Given the description of an element on the screen output the (x, y) to click on. 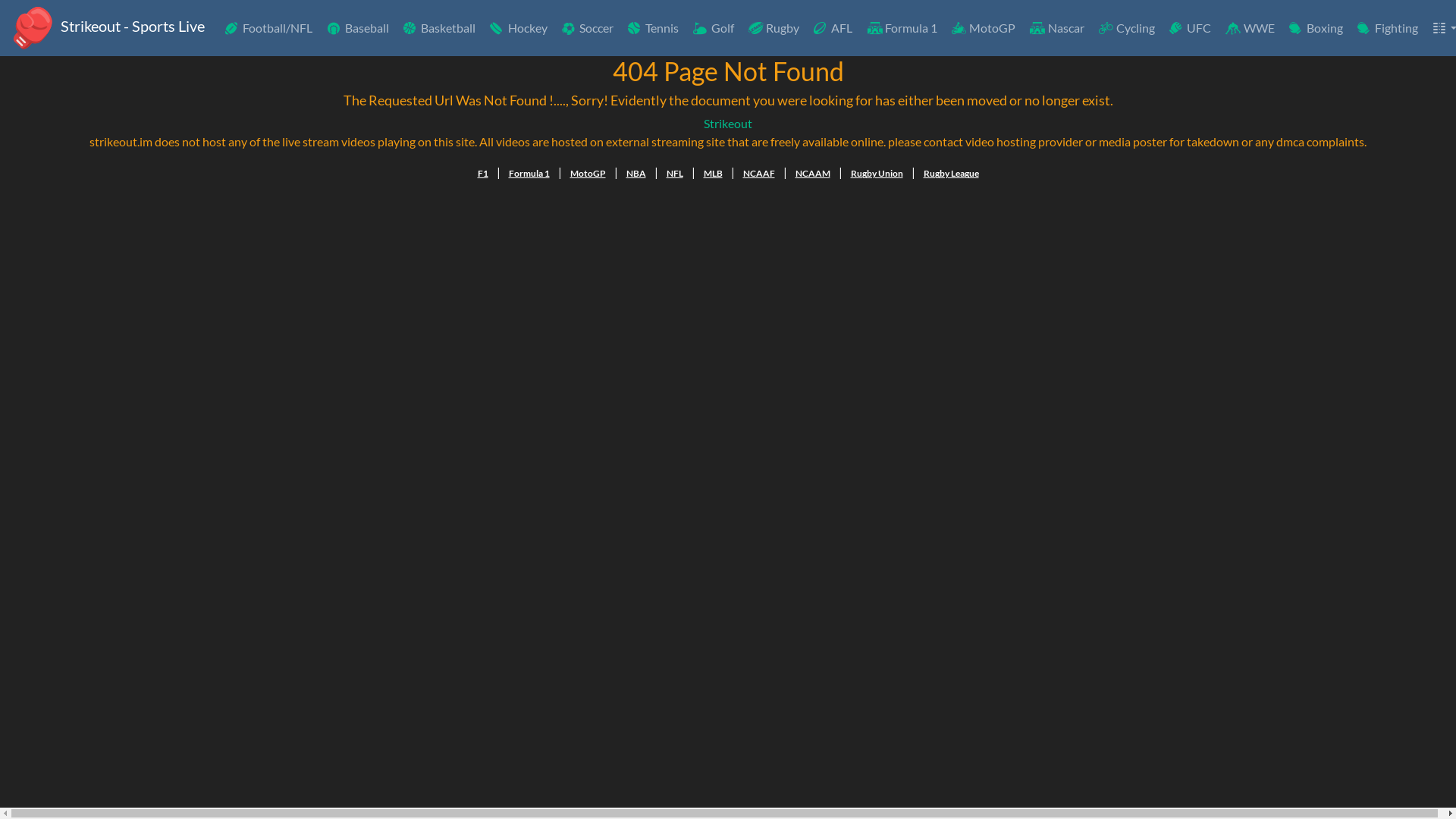
Rugby Element type: text (772, 27)
NCAAF Element type: text (759, 173)
Rugby Union Element type: text (876, 173)
Strikeout - Sports Live Element type: text (106, 28)
Football/NFL Element type: text (267, 27)
Formula 1 Element type: text (528, 173)
MLB Element type: text (712, 173)
Golf Element type: text (711, 27)
MotoGP Element type: text (982, 27)
Nascar Element type: text (1055, 27)
WWE Element type: text (1248, 27)
Basketball Element type: text (438, 27)
Cycling Element type: text (1125, 27)
Soccer Element type: text (586, 27)
Fighting Element type: text (1386, 27)
Boxing Element type: text (1314, 27)
MotoGP Element type: text (587, 173)
Baseball Element type: text (356, 27)
NFL Element type: text (673, 173)
Strikeout Element type: text (727, 123)
AFL Element type: text (831, 27)
NCAAM Element type: text (811, 173)
F1 Element type: text (482, 173)
UFC Element type: text (1189, 27)
NBA Element type: text (636, 173)
Tennis Element type: text (651, 27)
Rugby League Element type: text (951, 173)
Formula 1 Element type: text (900, 27)
Hockey Element type: text (516, 27)
